Given the description of an element on the screen output the (x, y) to click on. 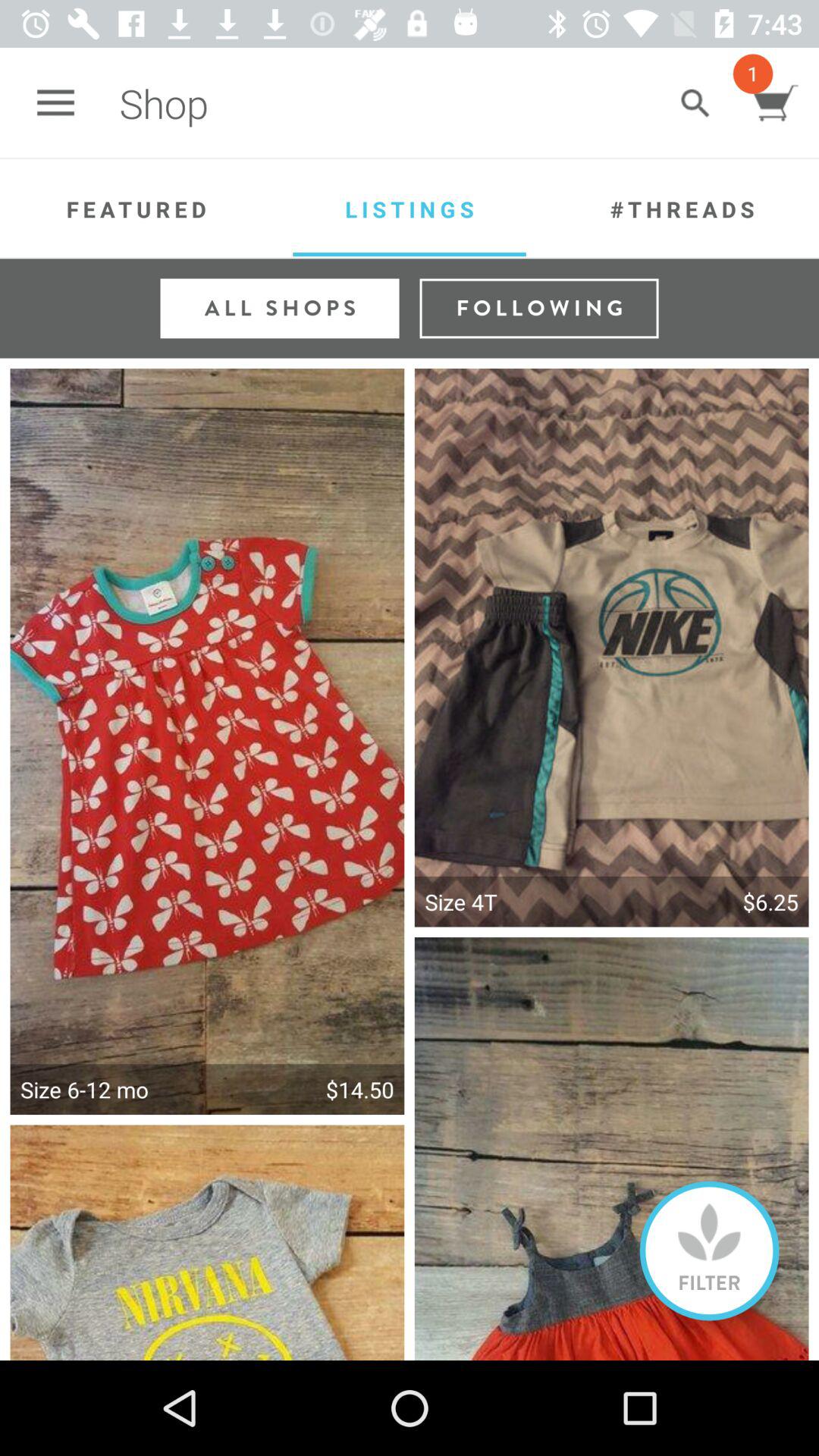
launch item next to the following (279, 308)
